Given the description of an element on the screen output the (x, y) to click on. 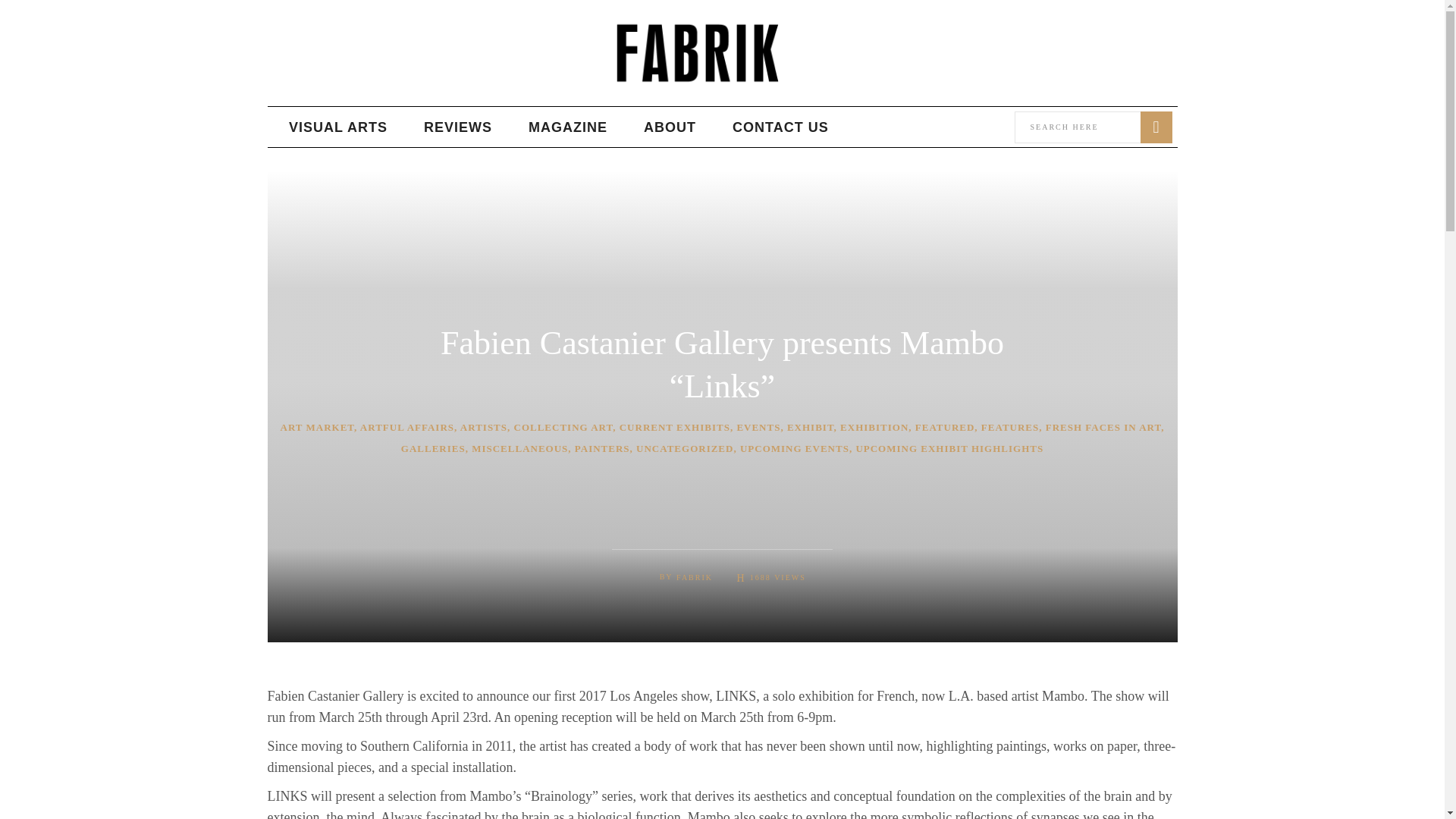
REVIEWS (458, 127)
VISUAL ARTS (338, 127)
